Given the description of an element on the screen output the (x, y) to click on. 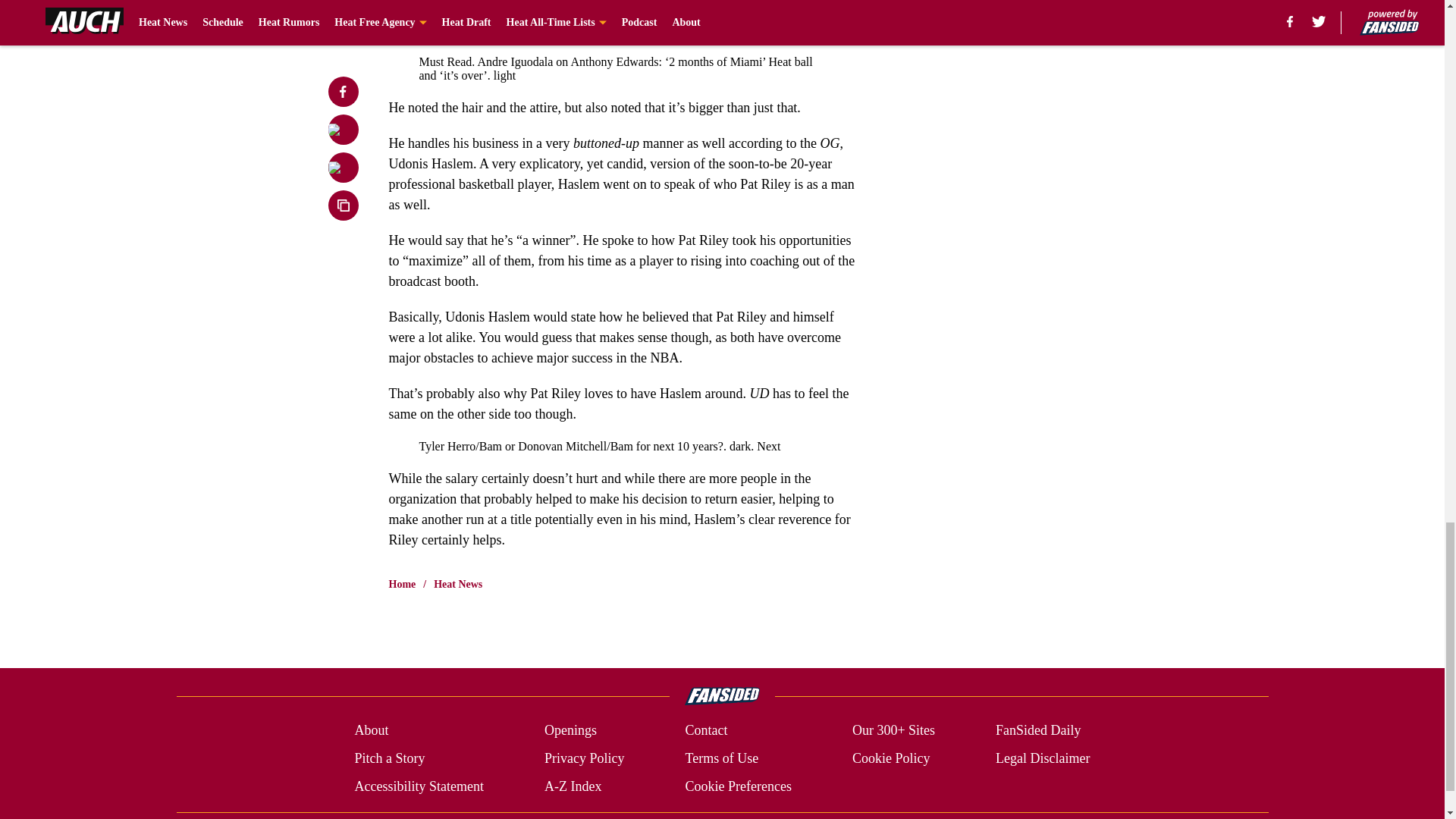
Pitch a Story (389, 758)
Privacy Policy (584, 758)
Home (401, 584)
Openings (570, 730)
Heat News (457, 584)
FanSided Daily (1038, 730)
Contact (705, 730)
About (370, 730)
